Given the description of an element on the screen output the (x, y) to click on. 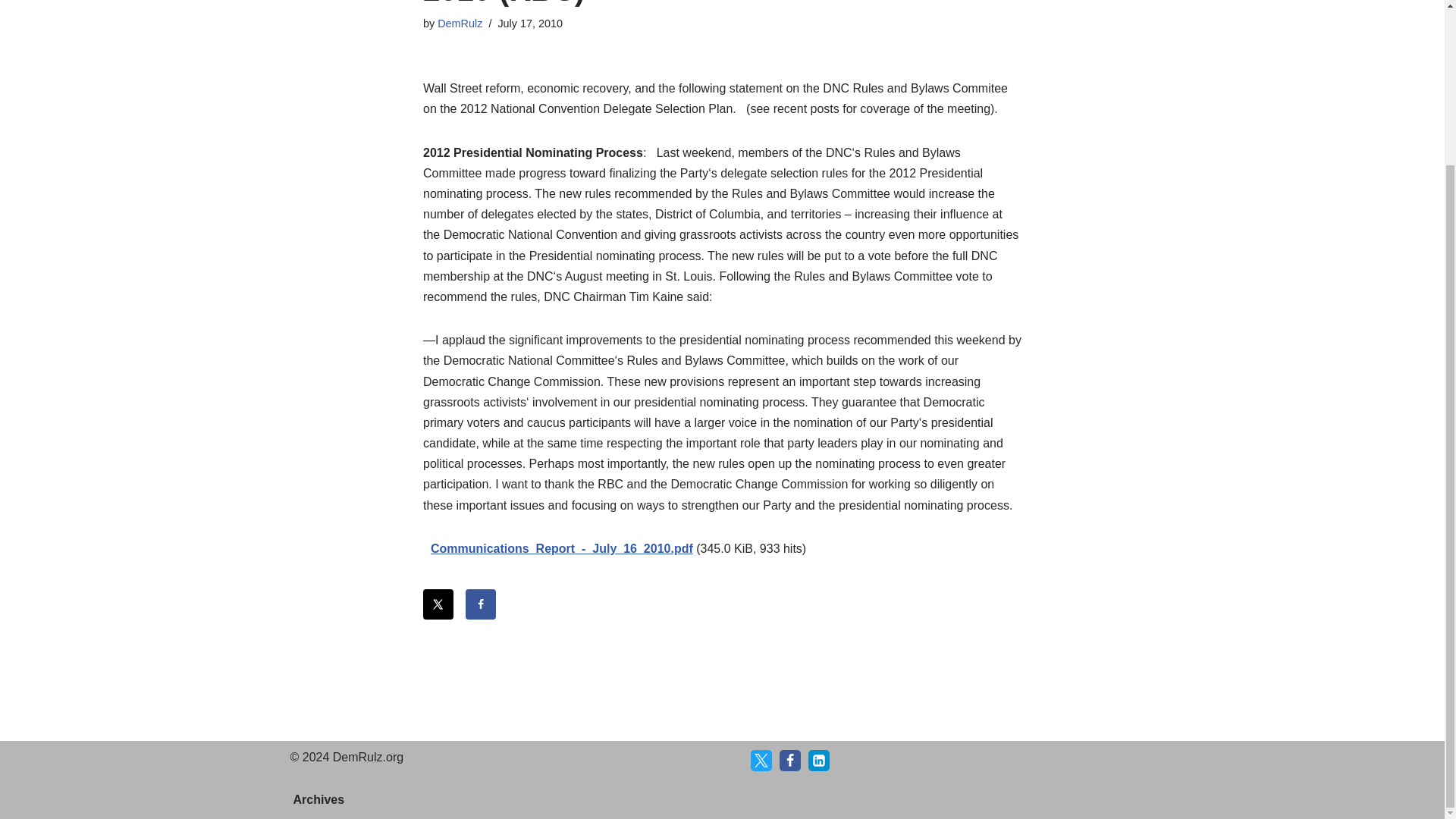
DemRulz (459, 23)
Share on Facebook (480, 603)
Archives (317, 799)
Share on X (437, 603)
Posts by DemRulz (459, 23)
X (761, 760)
LinkedIn (818, 760)
Facebook (789, 760)
